Given the description of an element on the screen output the (x, y) to click on. 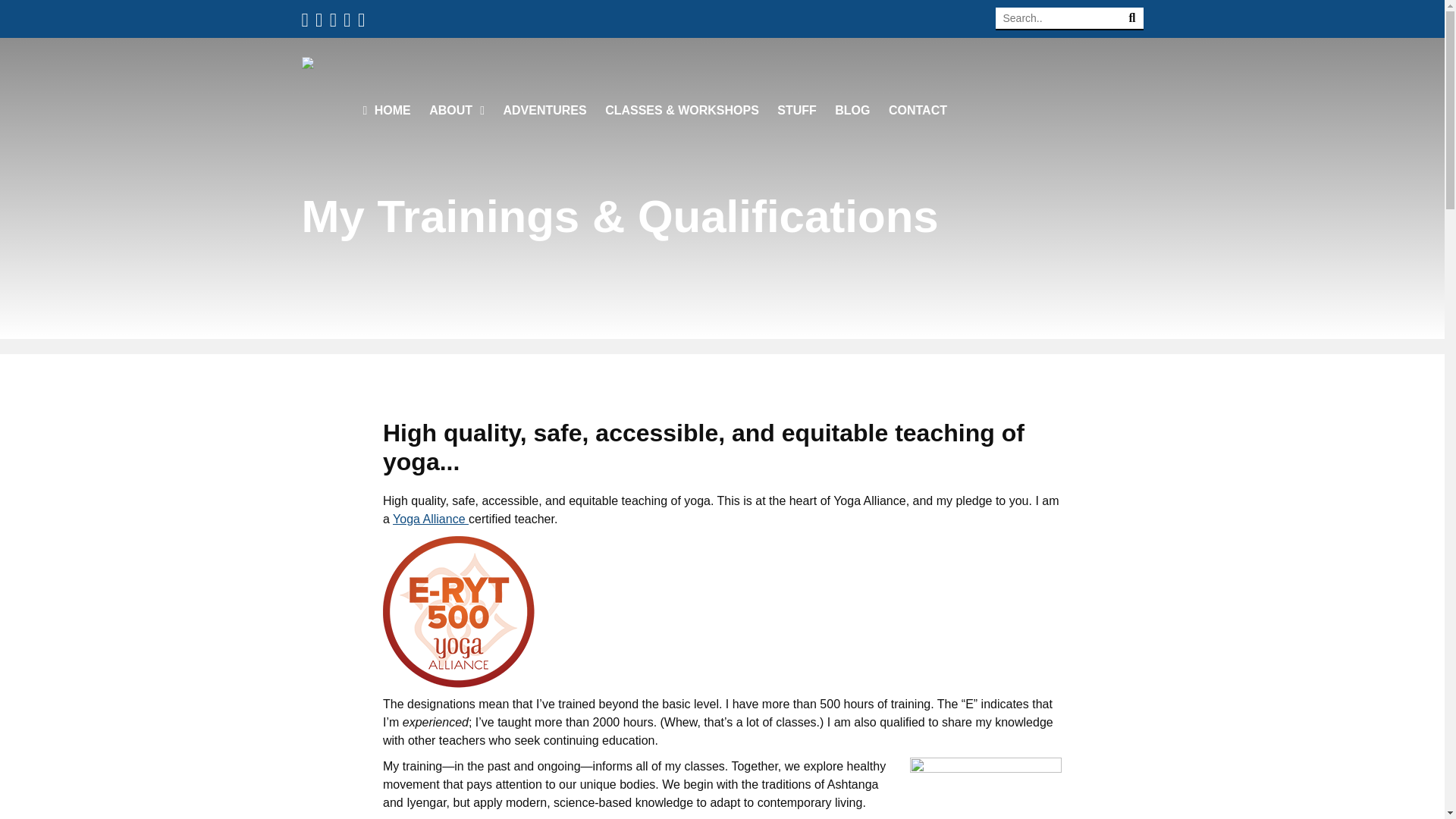
Yoga Alliance (430, 518)
CONTACT (917, 110)
ADVENTURES (544, 110)
BLOG (851, 110)
Search for: (1068, 18)
STUFF (796, 110)
ABOUT (456, 110)
HOME (386, 110)
